Given the description of an element on the screen output the (x, y) to click on. 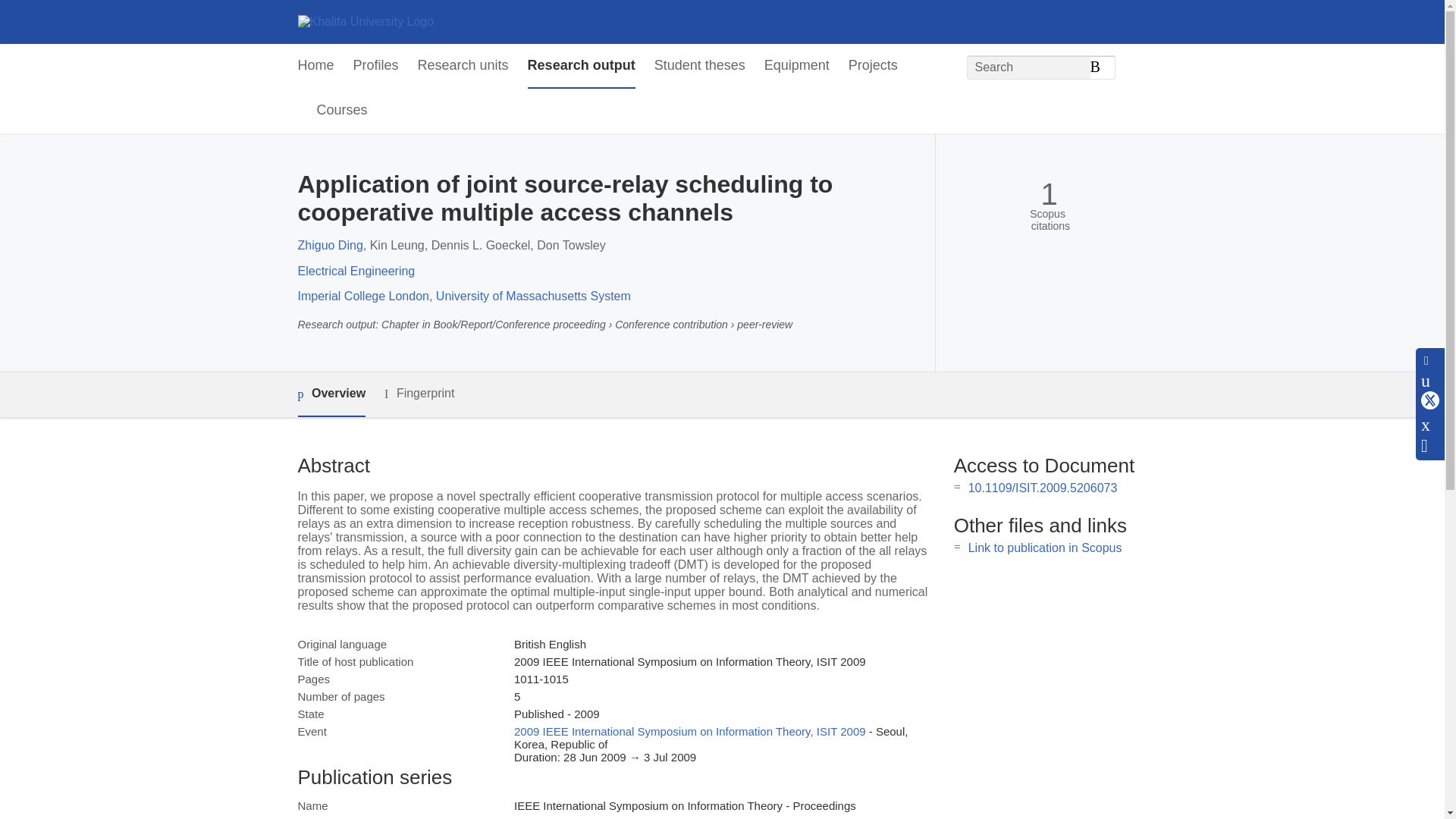
University of Massachusetts System (532, 295)
Research output (580, 66)
Khalifa University Home (365, 21)
Fingerprint (419, 393)
Profiles (375, 66)
Electrical Engineering (355, 270)
Research units (462, 66)
Imperial College London (362, 295)
